Given the description of an element on the screen output the (x, y) to click on. 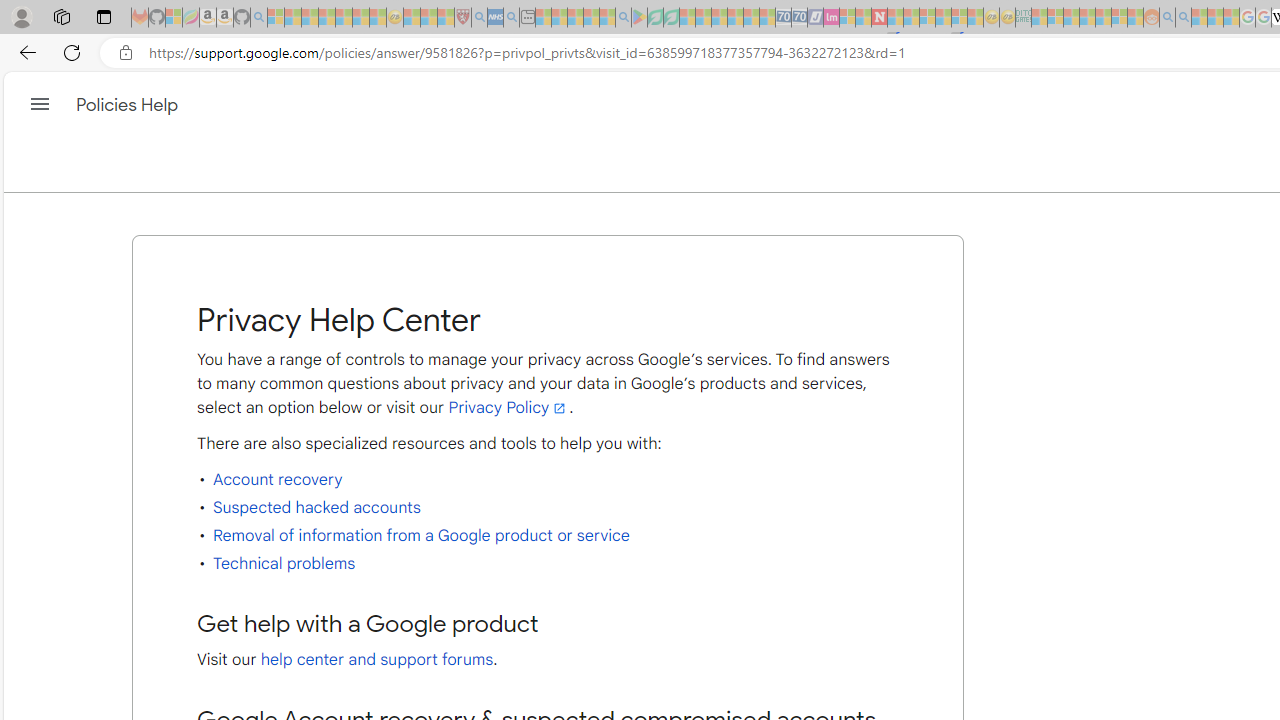
Removal of information from a Google product or service (420, 535)
Account recovery (277, 480)
Technical problems (283, 563)
help center and support forums (376, 660)
